Given the description of an element on the screen output the (x, y) to click on. 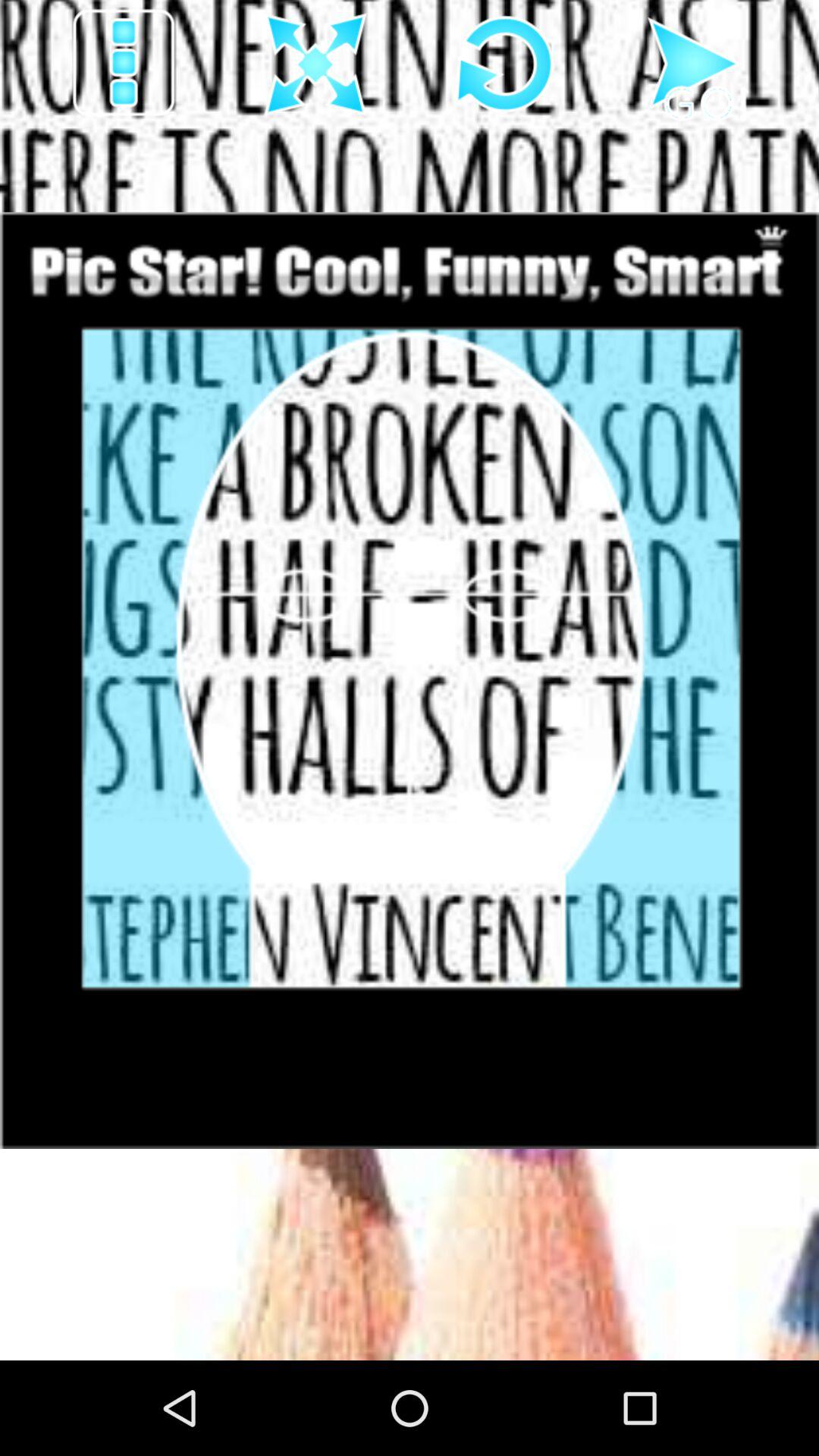
go back (504, 64)
